Given the description of an element on the screen output the (x, y) to click on. 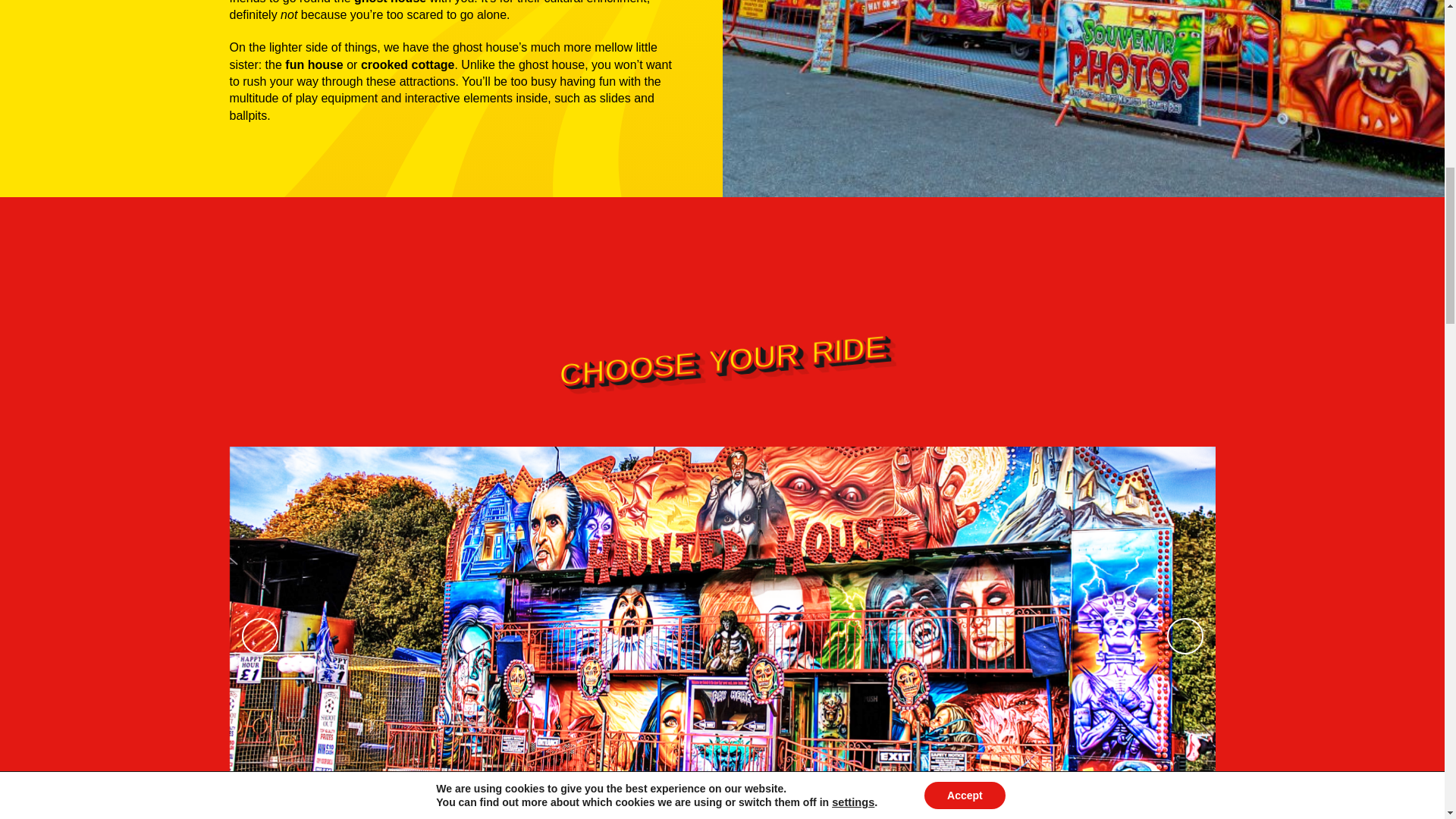
Previous (259, 636)
Next (1184, 636)
